Given the description of an element on the screen output the (x, y) to click on. 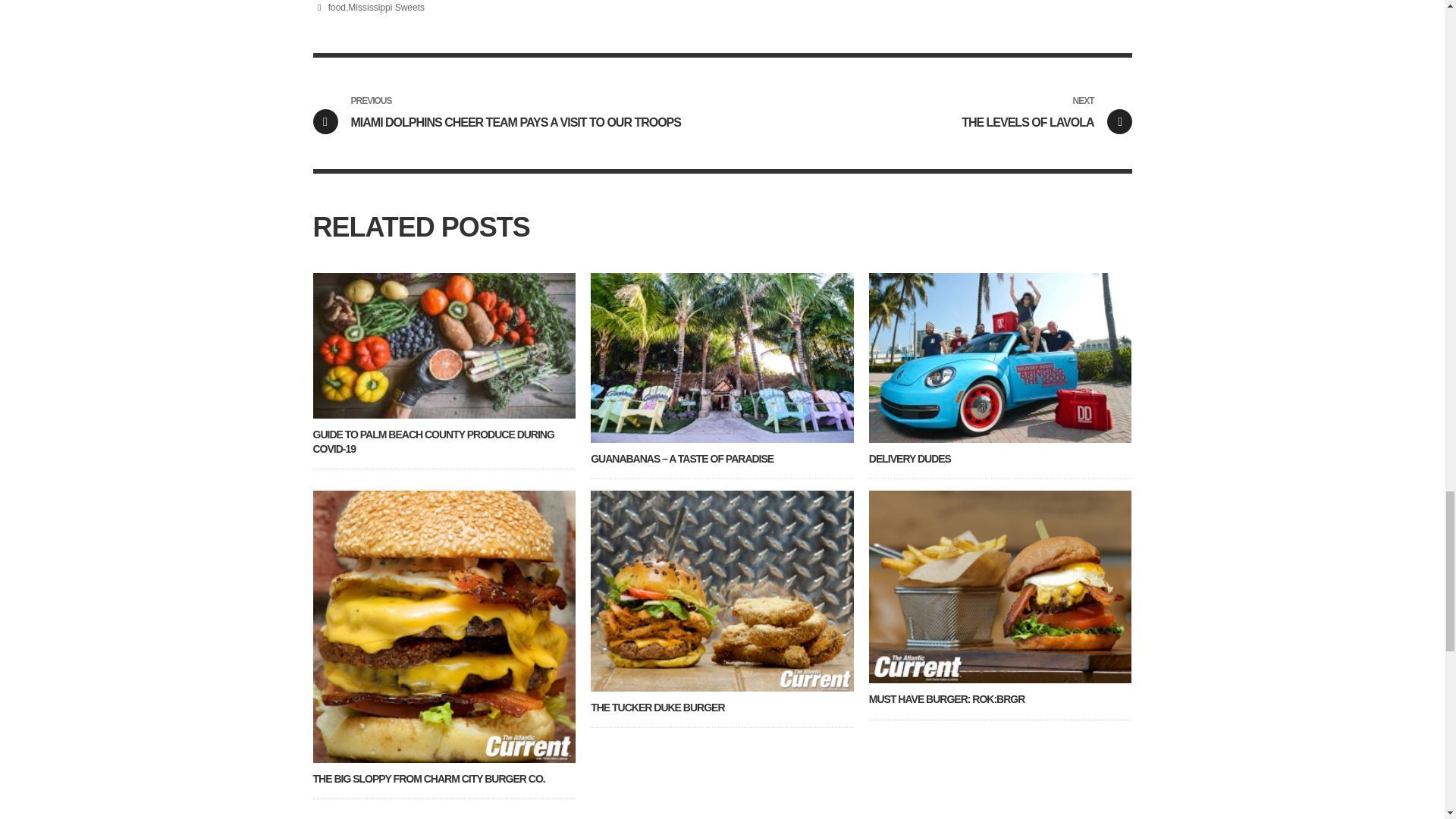
GUIDE TO PALM BEACH COUNTY PRODUCE DURING COVID-19 (433, 441)
Mississippi Sweets (926, 113)
THE TUCKER DUKE BURGER (386, 7)
THE BIG SLOPPY FROM CHARM CITY BURGER CO. (657, 707)
DELIVERY DUDES (428, 778)
MUST HAVE BURGER: ROK:BRGR (909, 458)
food (947, 698)
